Given the description of an element on the screen output the (x, y) to click on. 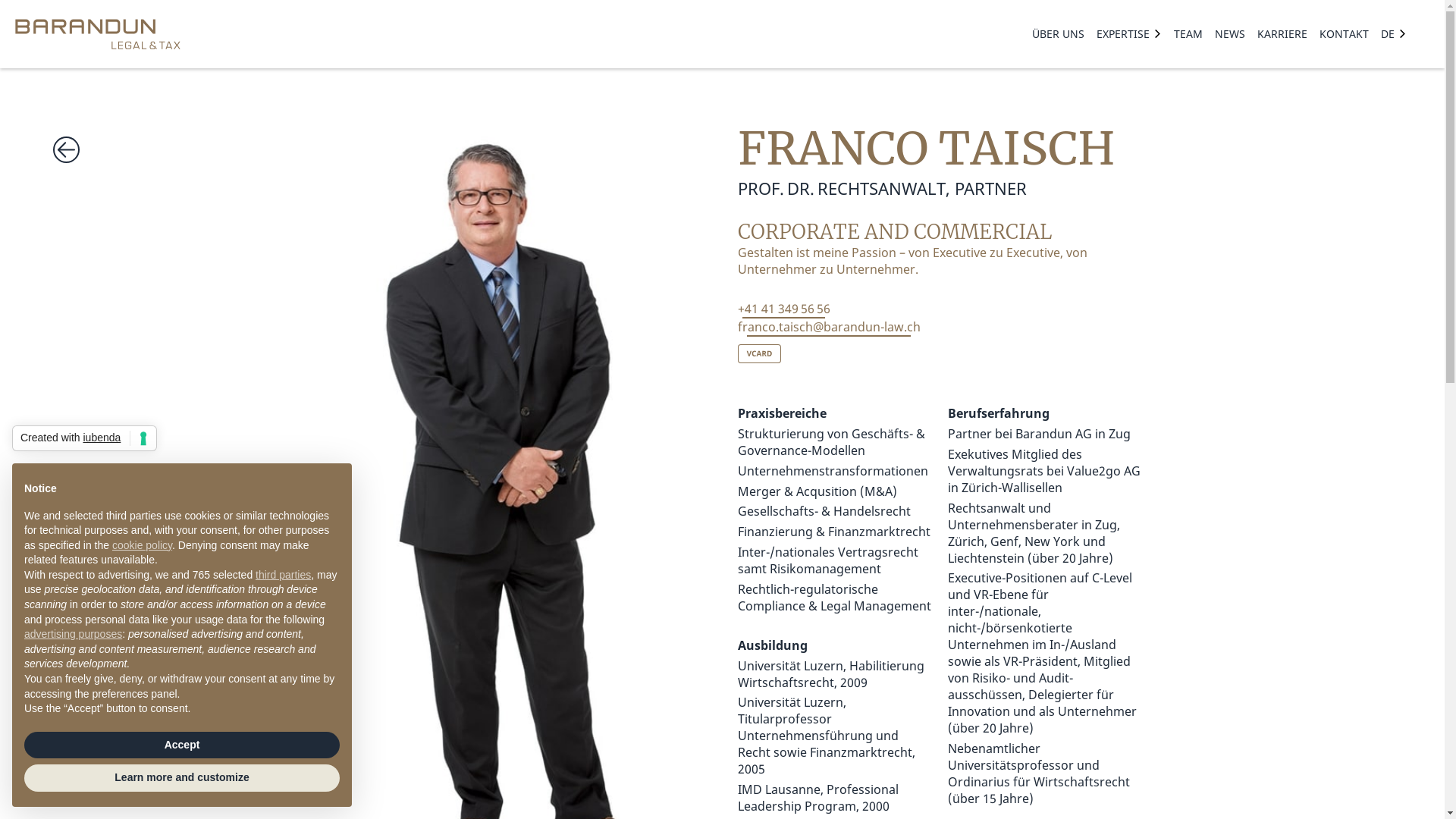
NEWS Element type: text (1229, 34)
cookie policy Element type: text (142, 545)
Learn more and customize Element type: text (181, 777)
KONTAKT Element type: text (1343, 34)
advertising purposes Element type: text (73, 633)
Created with iubenda Element type: text (84, 438)
KARRIERE Element type: text (1282, 34)
franco.taisch@barandun-law.ch Element type: text (828, 326)
Accept Element type: text (181, 745)
TEAM Element type: text (1187, 34)
third parties Element type: text (282, 574)
